Given the description of an element on the screen output the (x, y) to click on. 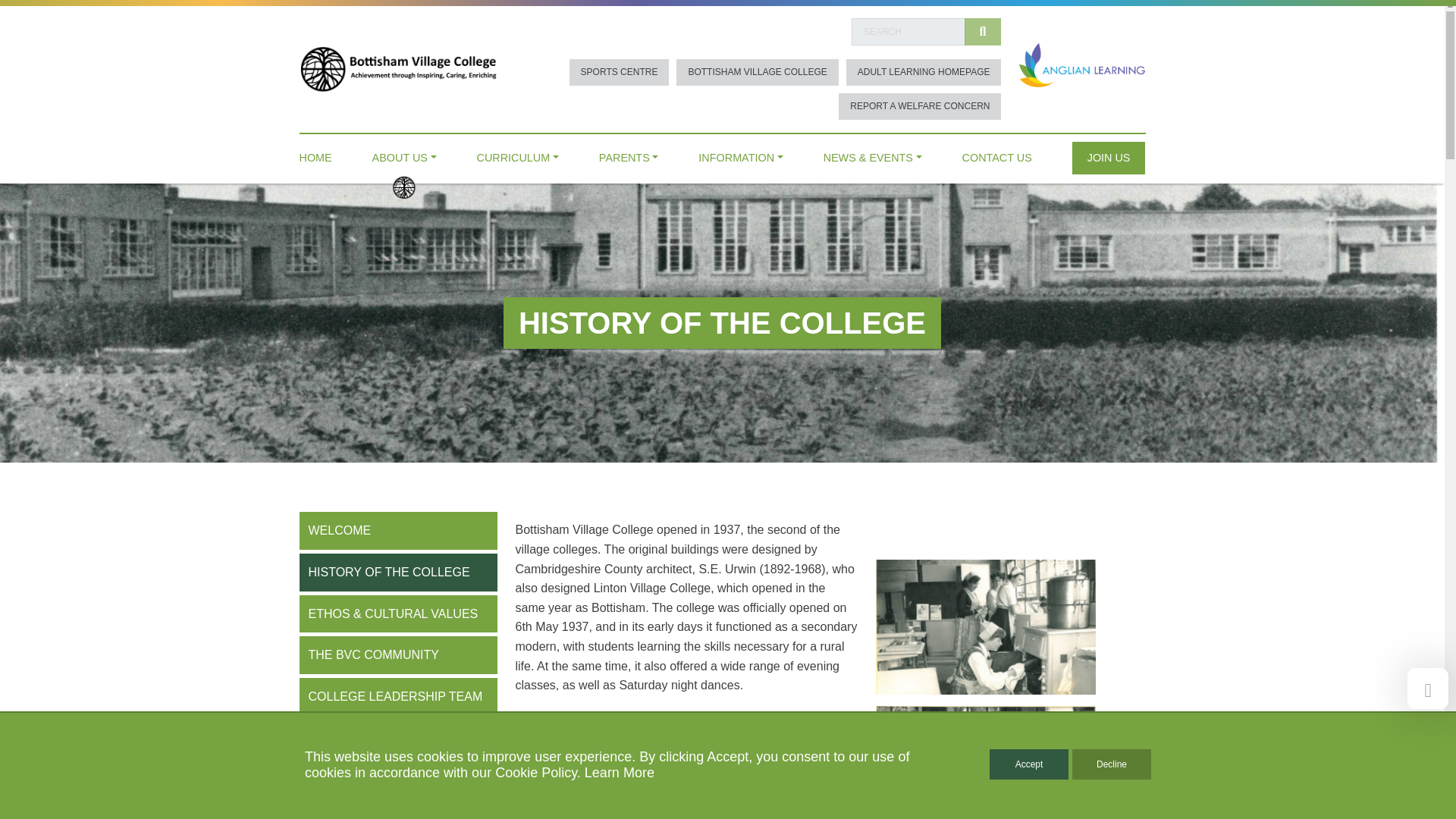
ADULT LEARNING HOMEPAGE (923, 71)
SPORTS CENTRE (619, 71)
ABOUT US (404, 154)
REPORT A WELFARE CONCERN (919, 106)
Anglian Learning (1081, 64)
HOME (314, 154)
CURRICULUM (518, 154)
BOTTISHAM VILLAGE COLLEGE (757, 71)
PARENTS (628, 154)
